Given the description of an element on the screen output the (x, y) to click on. 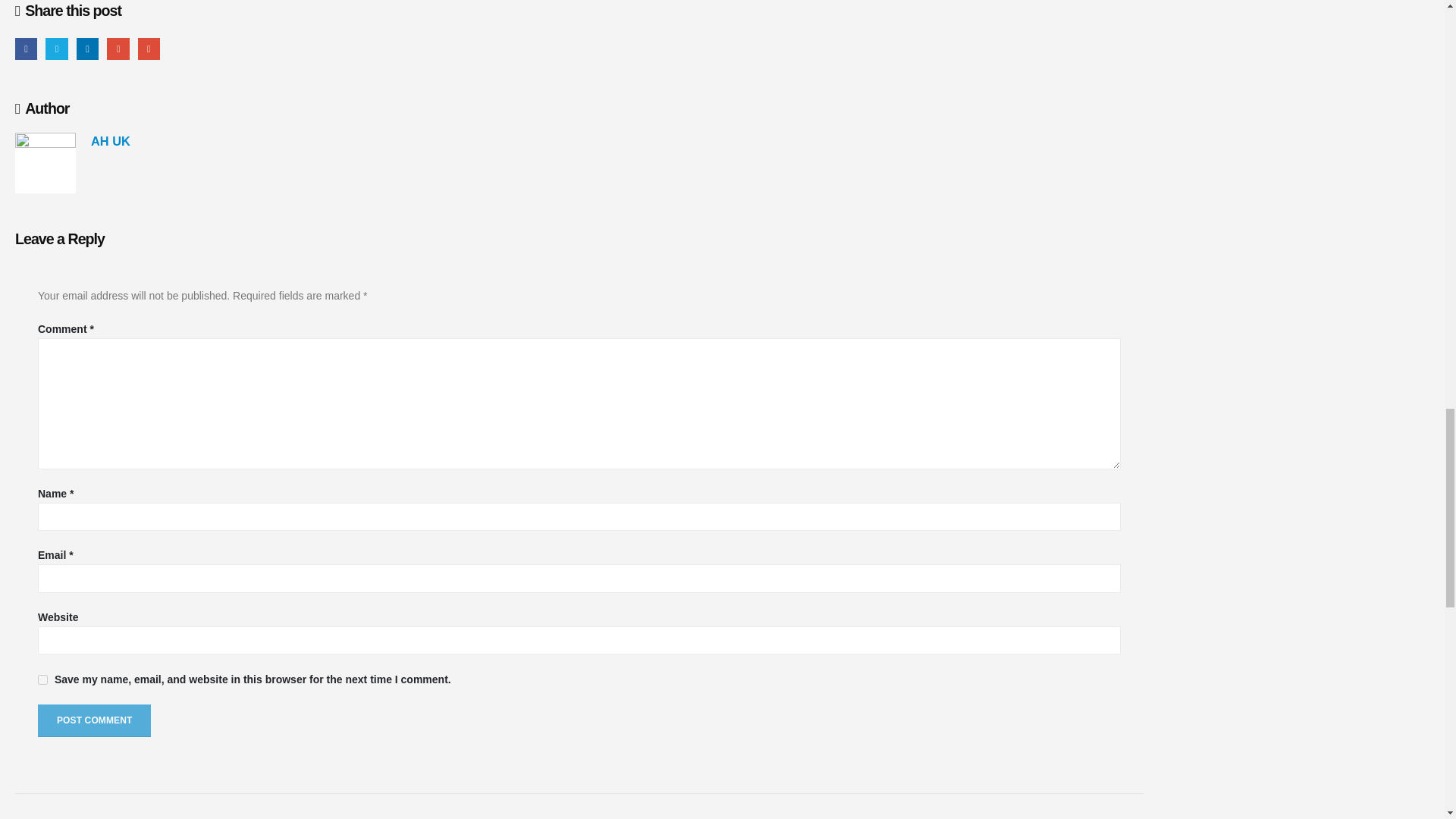
Facebook (25, 48)
Posts by AH UK (110, 141)
Email (149, 48)
Twitter (55, 48)
AH UK (110, 141)
yes (42, 679)
Post Comment (94, 720)
Post Comment (94, 720)
LinkedIn (88, 48)
LinkedIn (88, 48)
